Given the description of an element on the screen output the (x, y) to click on. 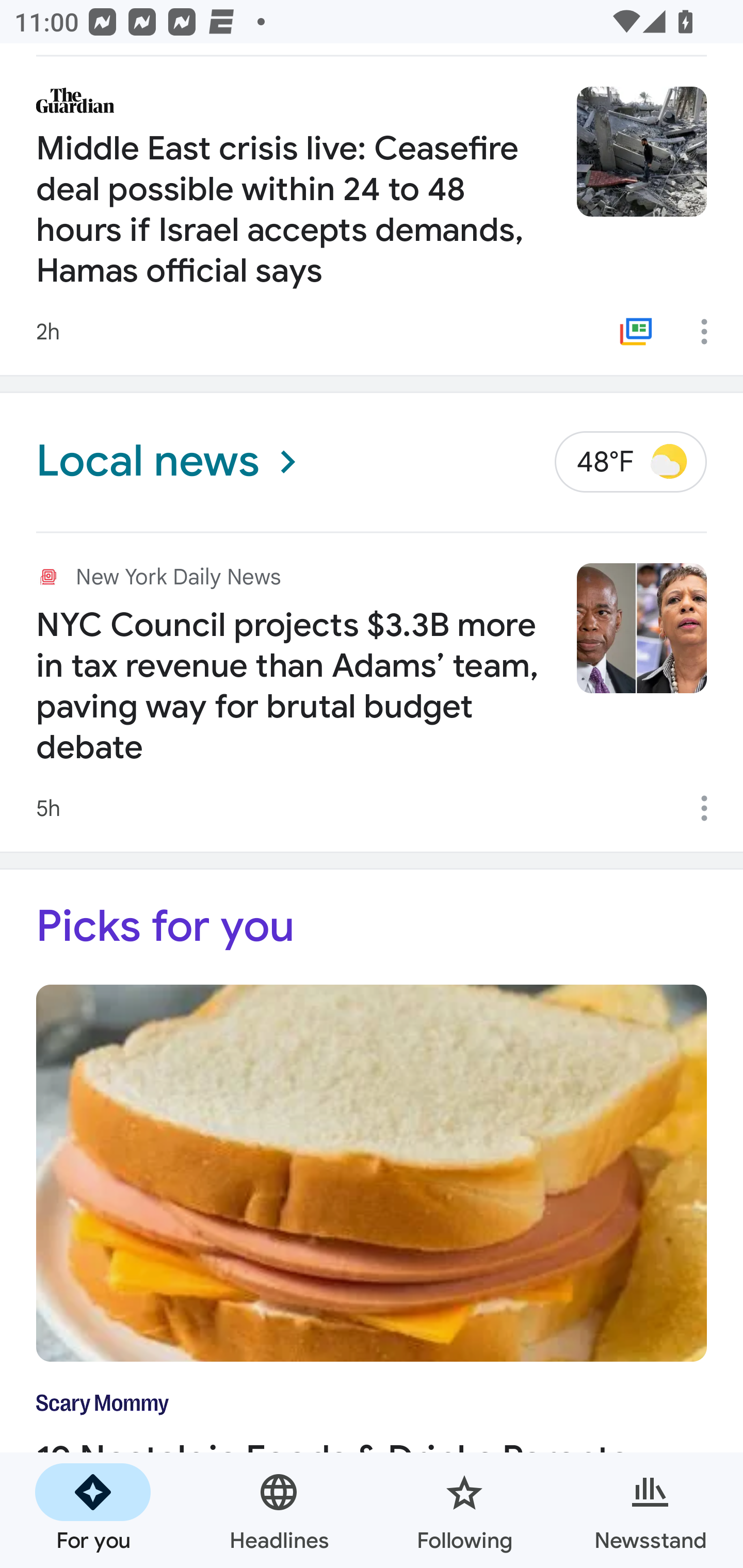
More options (711, 331)
More options (711, 808)
For you (92, 1509)
Headlines (278, 1509)
Following (464, 1509)
Newsstand (650, 1509)
